Given the description of an element on the screen output the (x, y) to click on. 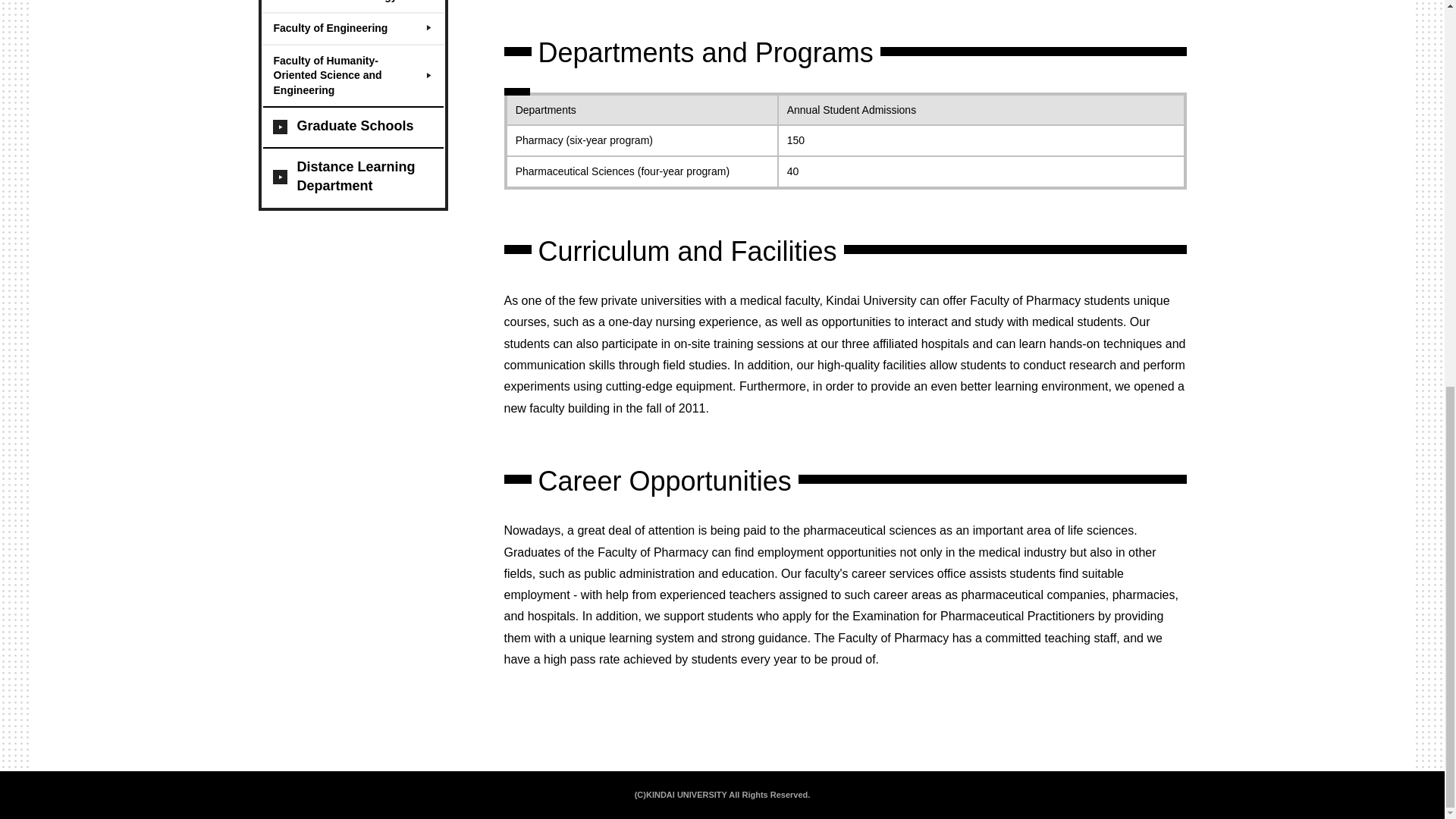
Faculty of Humanity-Oriented Science and Engineering (352, 75)
Distance Learning Department (352, 177)
Faculty of Engineering (352, 28)
Graduate Schools (352, 126)
Faculty of Biology-Oriented Science and Technology (352, 5)
